Given the description of an element on the screen output the (x, y) to click on. 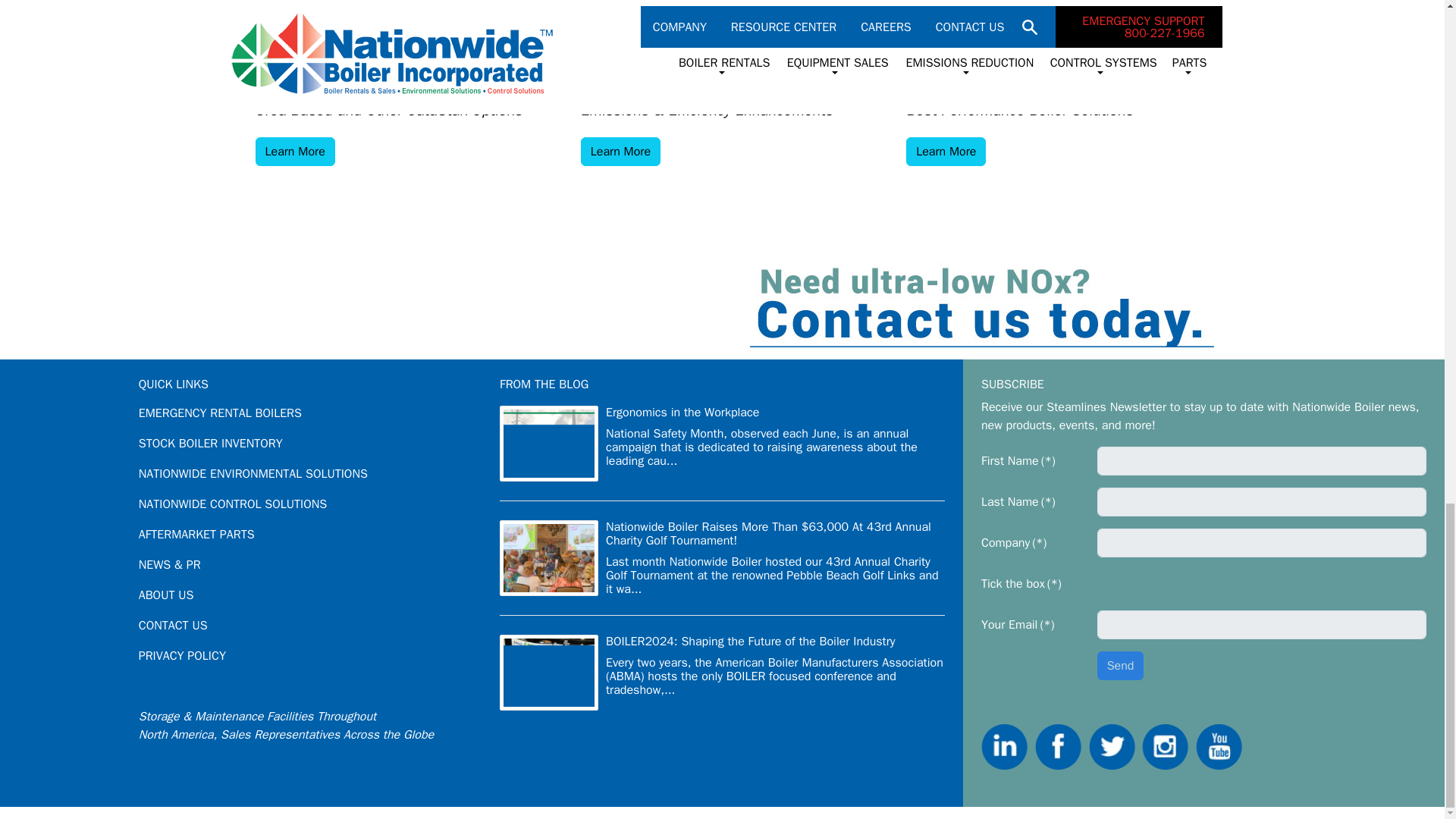
send the form (1120, 665)
NATIONAL-SAFETY-MONTH-5 (548, 443)
BOILER2024: Shaping the Future of the Boiler Industry (750, 641)
BOILER2024 (548, 672)
Ergonomics in the Workplace (681, 412)
